Given the description of an element on the screen output the (x, y) to click on. 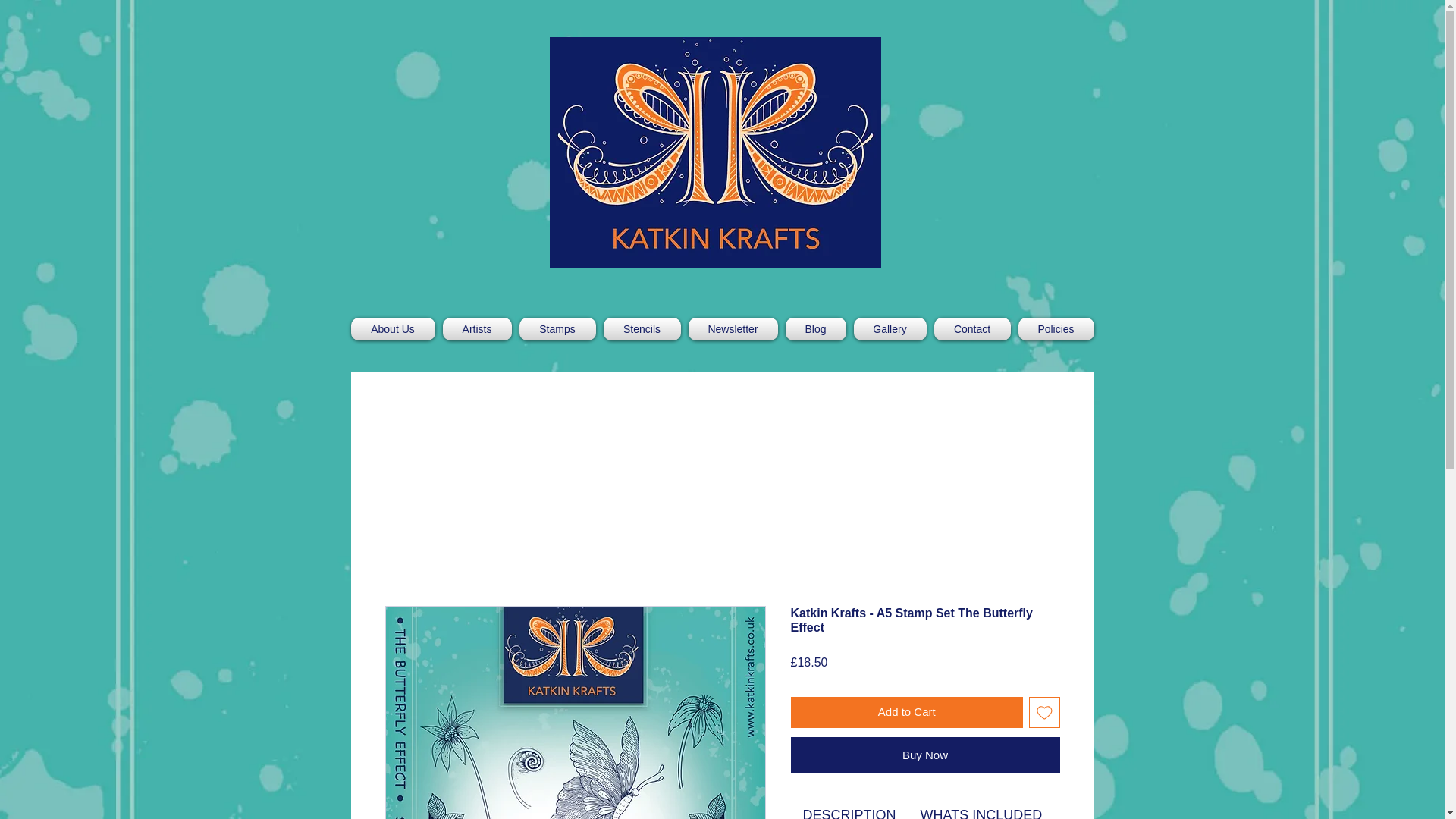
Use right and left arrows to navigate between tabs (848, 806)
Gallery (889, 328)
Use right and left arrows to navigate between tabs (981, 806)
Buy Now (924, 755)
Stamps (557, 328)
About Us (394, 328)
Contact (971, 328)
Blog (814, 328)
Stencils (641, 328)
Artists (476, 328)
Add to Cart (906, 712)
Newsletter (732, 328)
